Given the description of an element on the screen output the (x, y) to click on. 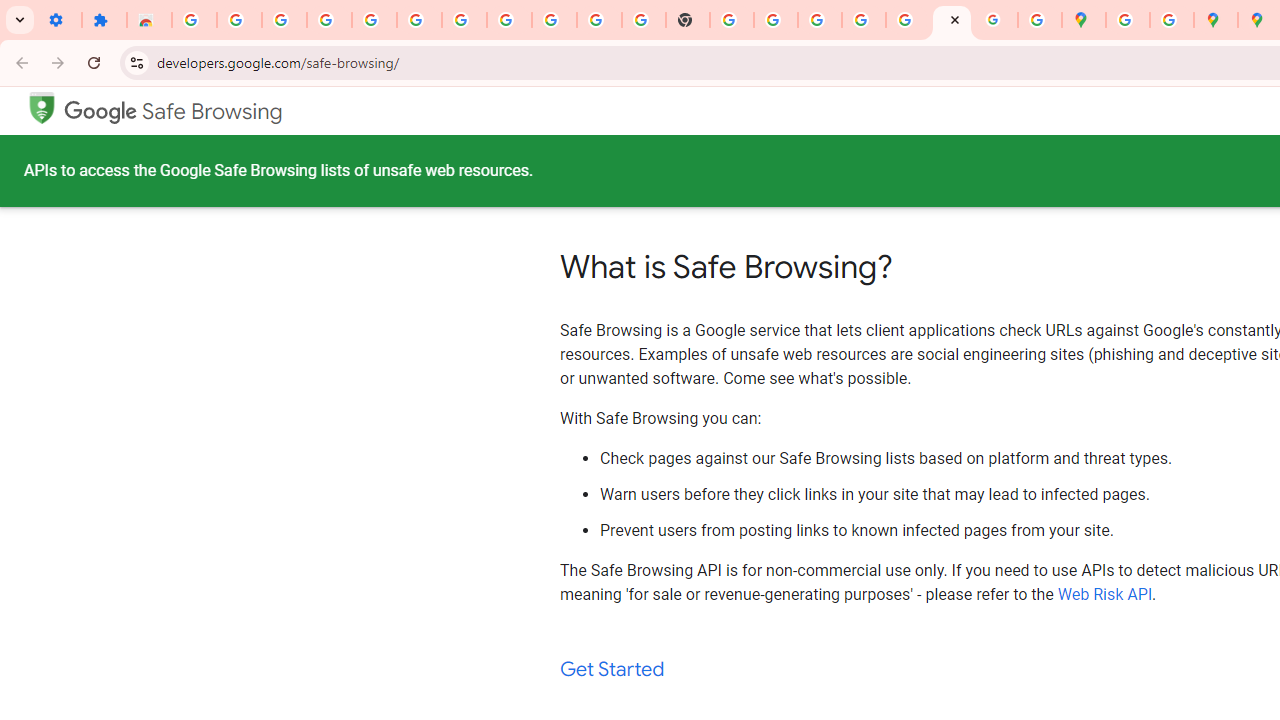
Reviews: Helix Fruit Jump Arcade Game (148, 20)
Safety in Our Products - Google Safety Center (1171, 20)
Sign in - Google Accounts (194, 20)
Google Safe Browsing (173, 111)
https://scholar.google.com/ (731, 20)
Web Risk API (1105, 594)
